Given the description of an element on the screen output the (x, y) to click on. 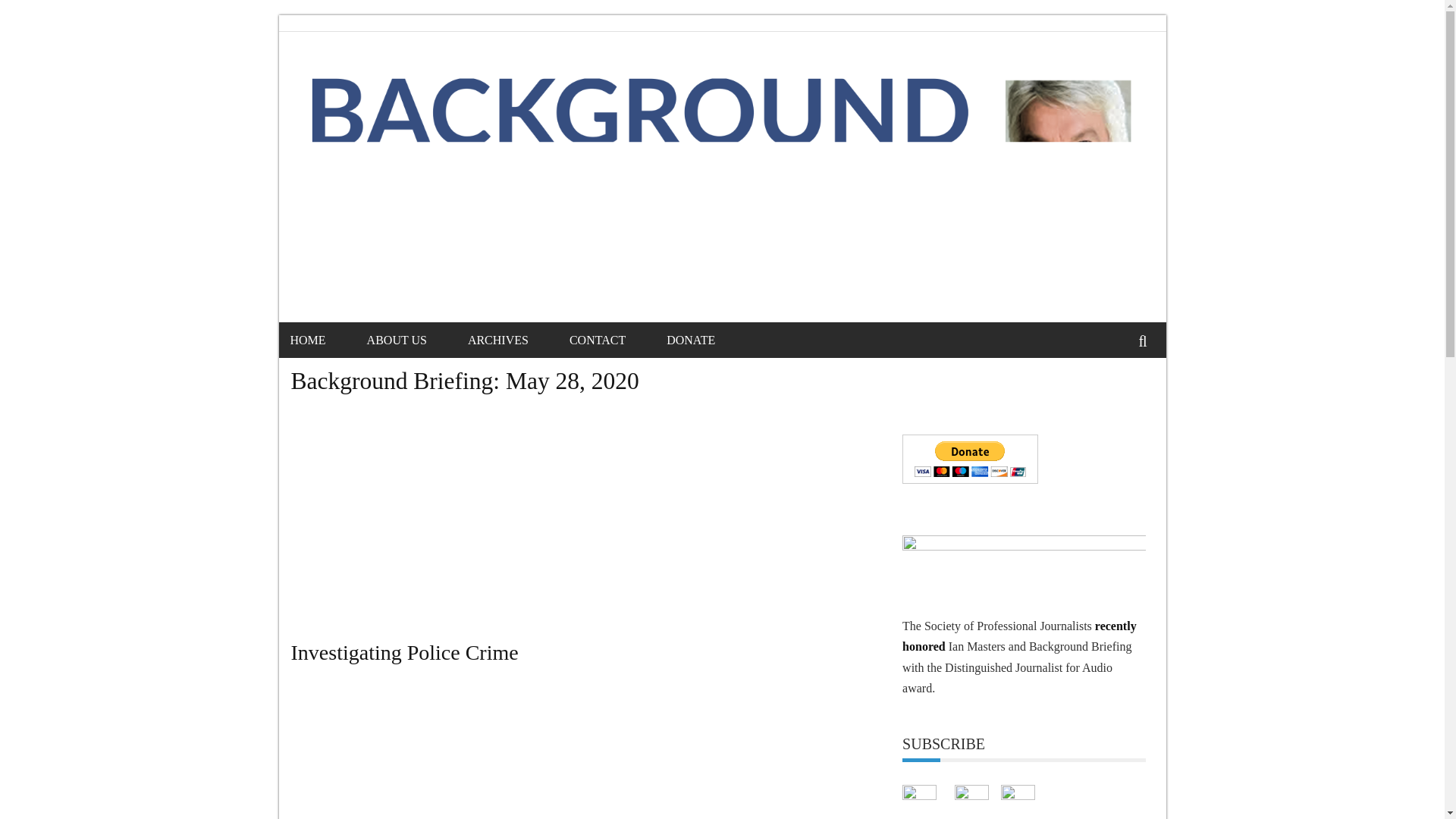
HOME (325, 339)
ABOUT US (415, 339)
ARCHIVES (516, 339)
BACKGROUND BRIEFING (413, 101)
DONATE (709, 339)
CONTACT (616, 339)
recently honored (1019, 635)
PayPal - The safer, easier way to pay online! (970, 459)
